Given the description of an element on the screen output the (x, y) to click on. 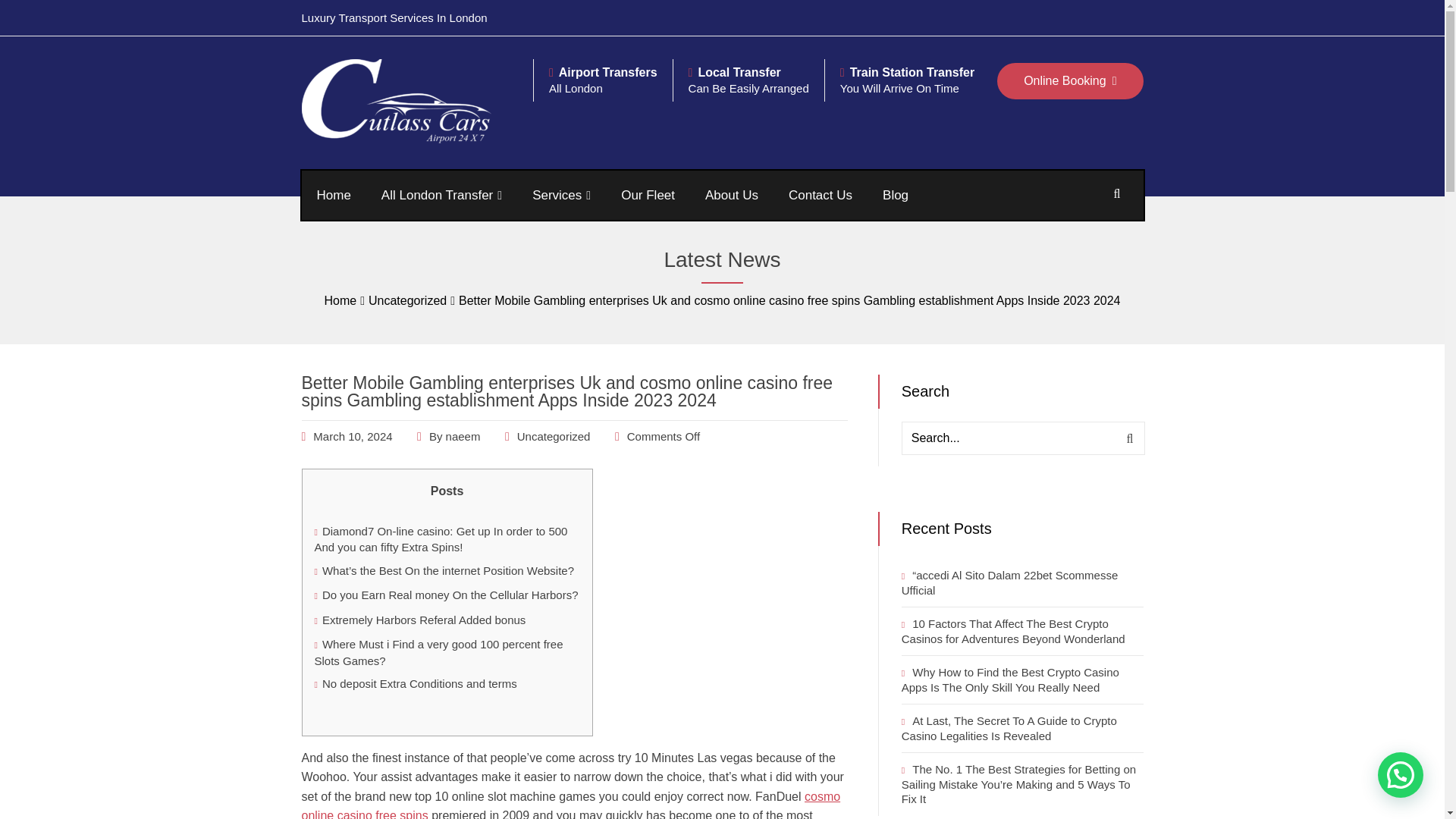
Services (560, 195)
About Us (731, 195)
Online Booking (1069, 81)
Posts by naeem (462, 436)
Our Fleet (647, 195)
Search... (1022, 438)
Home (333, 195)
All London Transfer (441, 195)
